Given the description of an element on the screen output the (x, y) to click on. 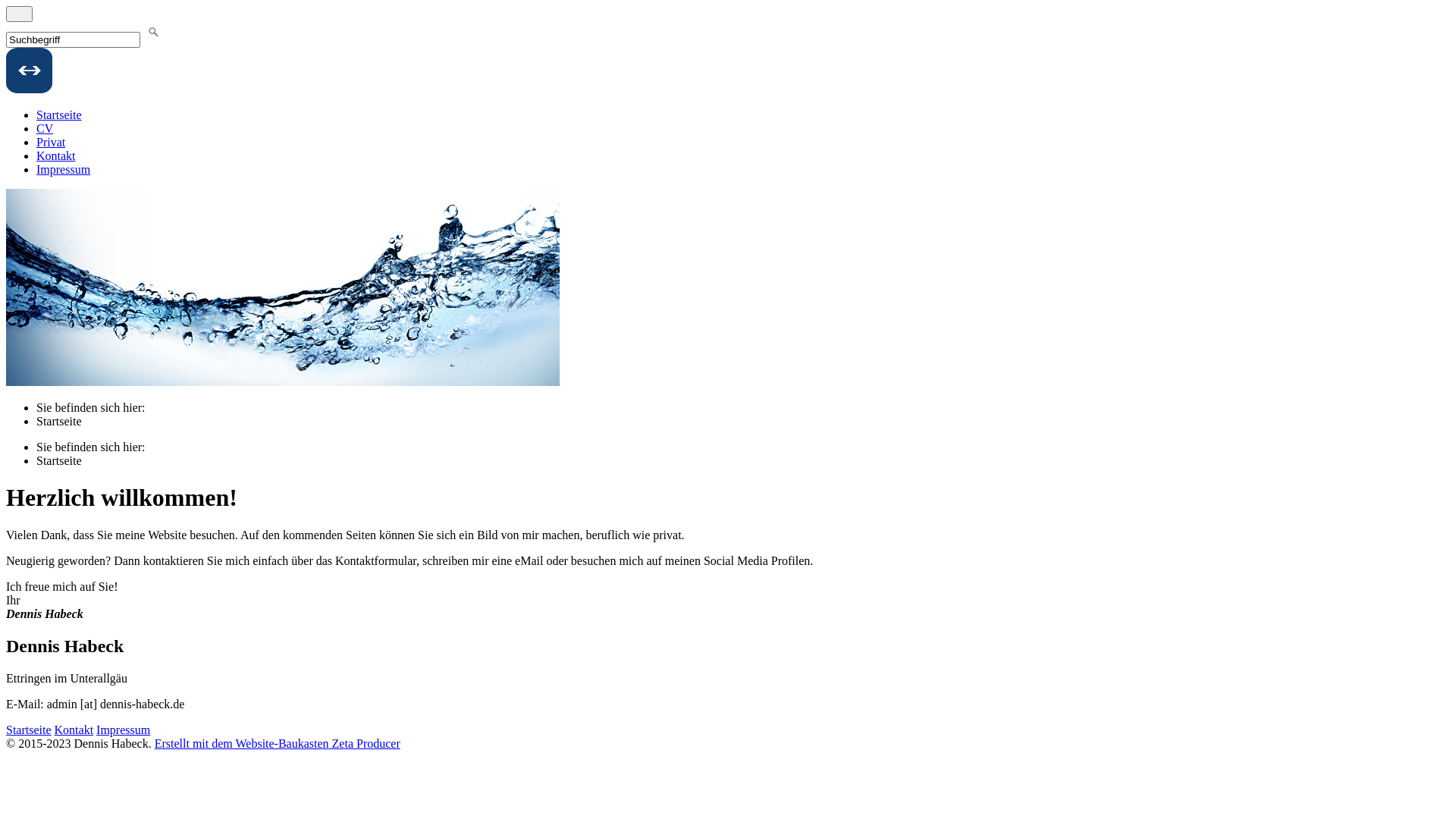
Kontakt Element type: text (74, 729)
Startseite Element type: text (28, 729)
Kontakt Element type: text (55, 155)
Erstellt mit dem Website-Baukasten Zeta Producer Element type: text (277, 743)
Privat Element type: text (50, 141)
Impressum Element type: text (123, 729)
Startseite Element type: text (58, 114)
Startseite Element type: text (58, 420)
CV Element type: text (44, 128)
Impressum Element type: text (63, 169)
      Element type: text (19, 13)
Startseite Element type: text (58, 460)
